Given the description of an element on the screen output the (x, y) to click on. 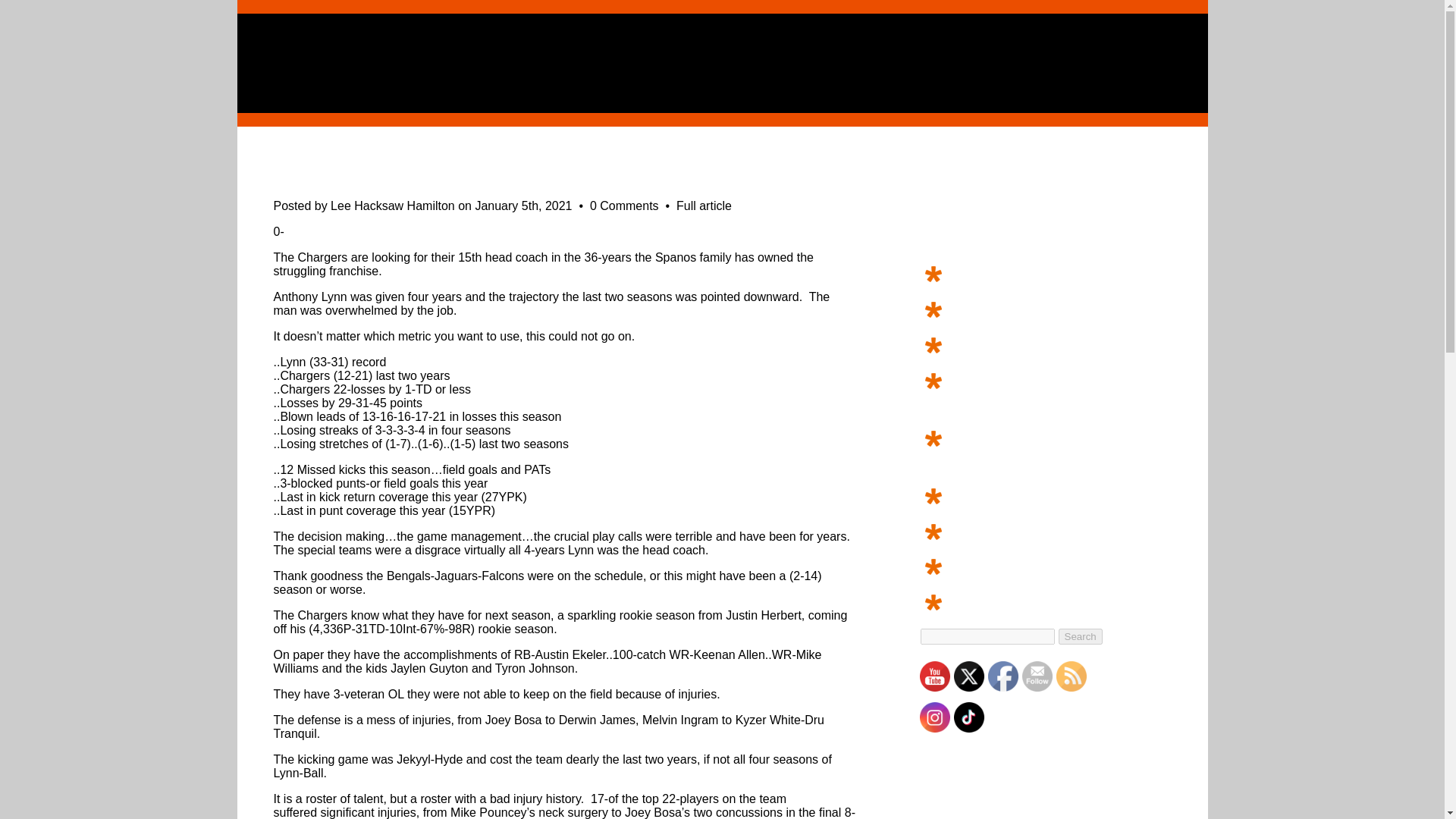
Full article (704, 205)
Facebook (1002, 675)
0 Comments (625, 205)
Search (1080, 636)
RSS (1070, 675)
Lee Hacksaw Hamilton (392, 205)
Twitter (968, 675)
YouTube (933, 675)
Follow by Email (1037, 675)
Search (1080, 636)
